Given the description of an element on the screen output the (x, y) to click on. 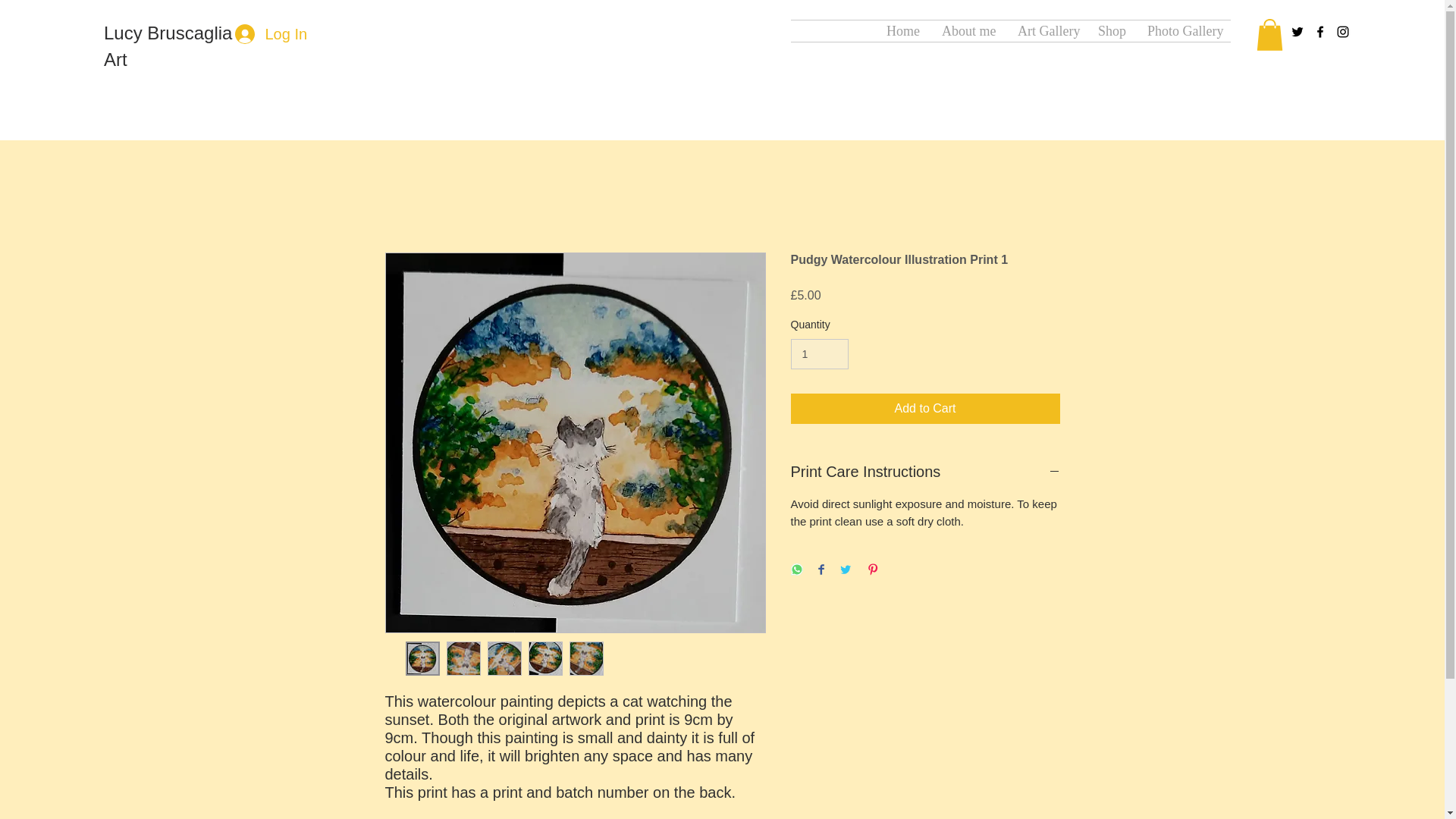
Log In (269, 33)
Home (902, 30)
Shop (1110, 30)
1 (818, 354)
Add to Cart (924, 408)
Lucy Bruscaglia Art (167, 45)
Photo Gallery (1182, 30)
Print Care Instructions (924, 471)
Art Gallery (1046, 30)
About me (968, 30)
